Given the description of an element on the screen output the (x, y) to click on. 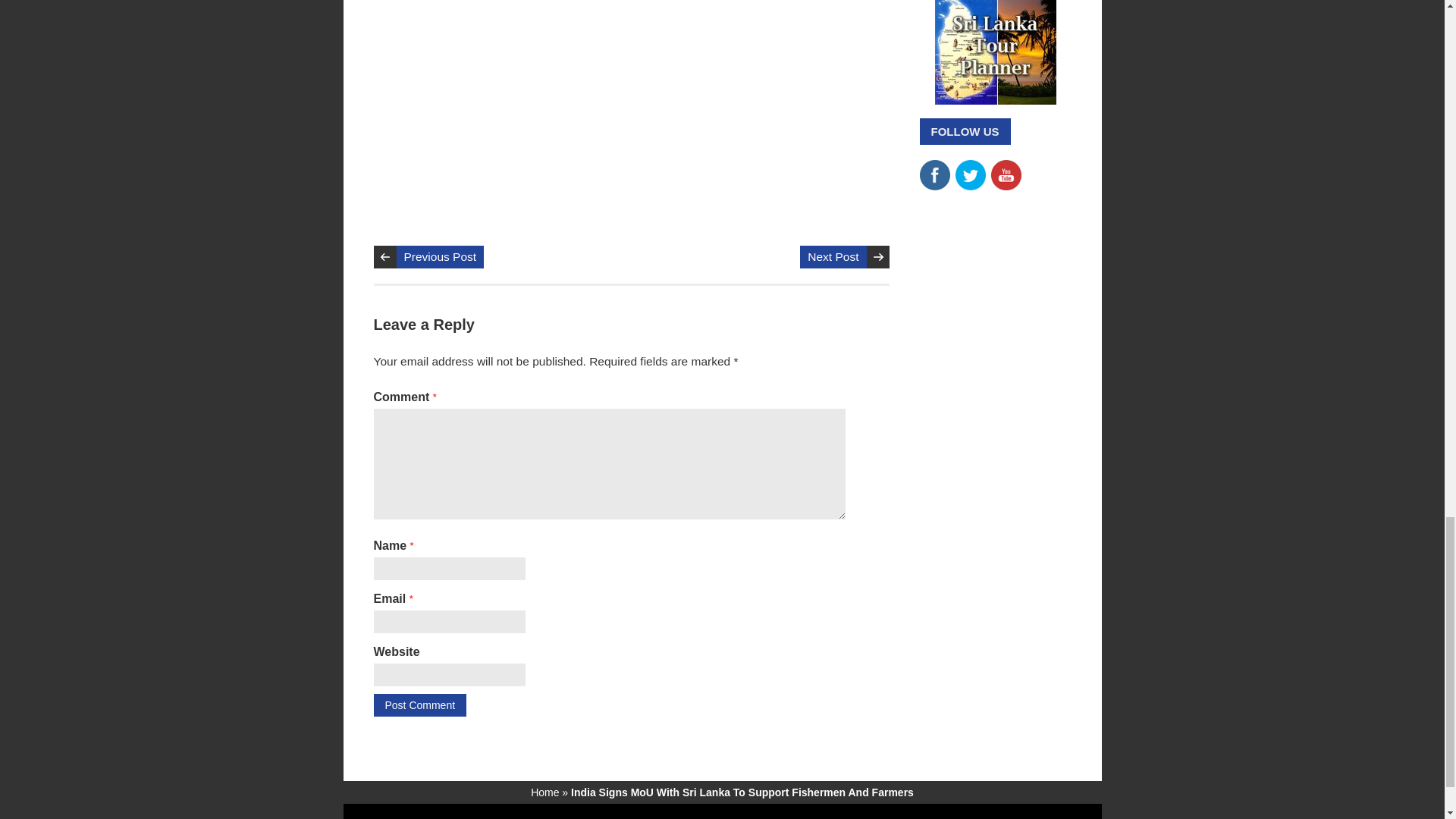
Previous Post (439, 256)
Onlanka Facebook page (933, 166)
Post Comment (418, 704)
Post Comment (418, 704)
Advertisement (663, 105)
Next Post (832, 256)
Onlanka YouTube channel (1005, 166)
Onlanka Twitter profile (970, 166)
